Given the description of an element on the screen output the (x, y) to click on. 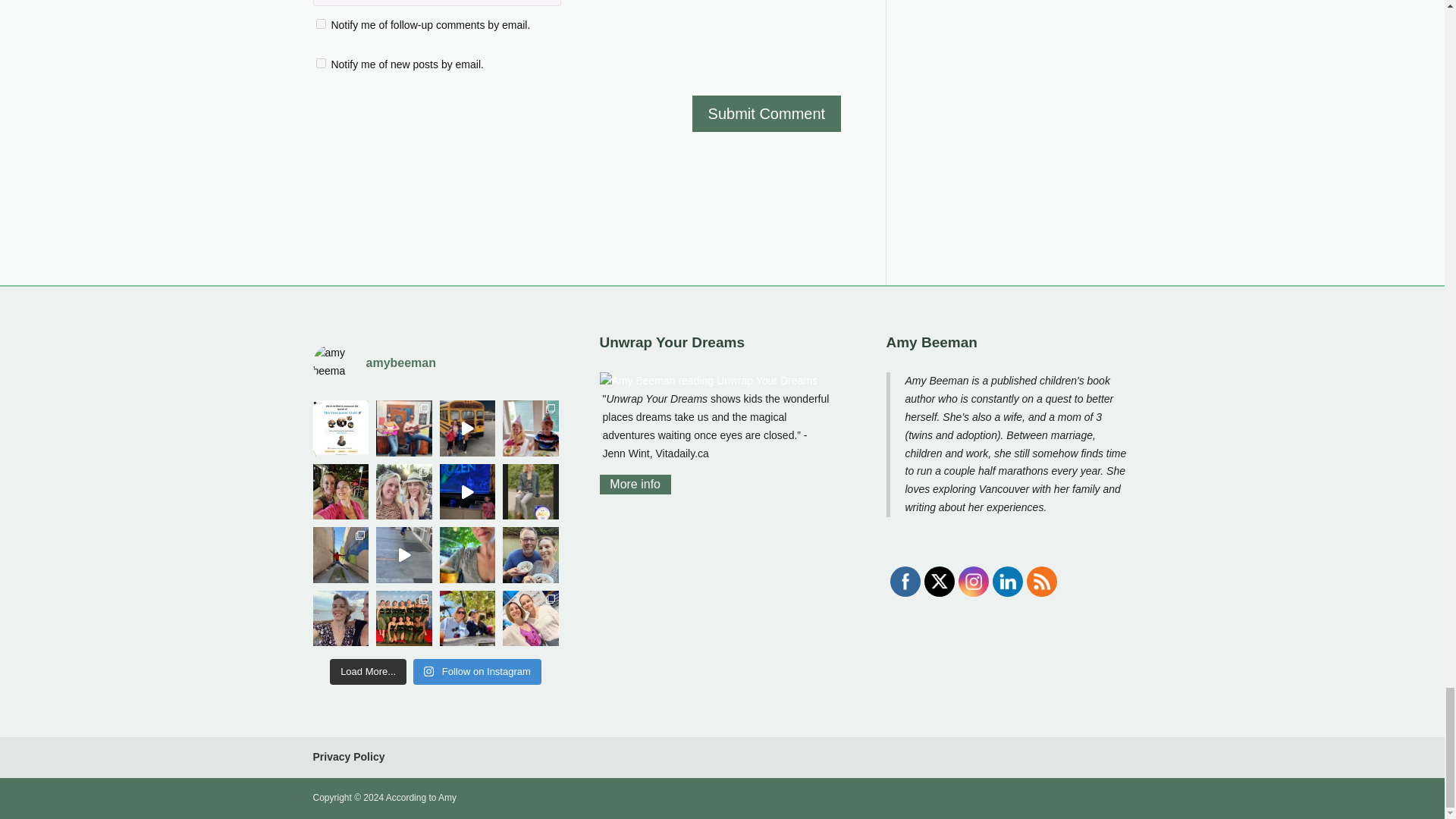
Twitter (939, 581)
Instagram (972, 581)
Submit Comment (767, 113)
subscribe (319, 62)
RSS (1040, 581)
Facebook (904, 581)
subscribe (319, 23)
Unwrap Your Dreams (707, 381)
